Given the description of an element on the screen output the (x, y) to click on. 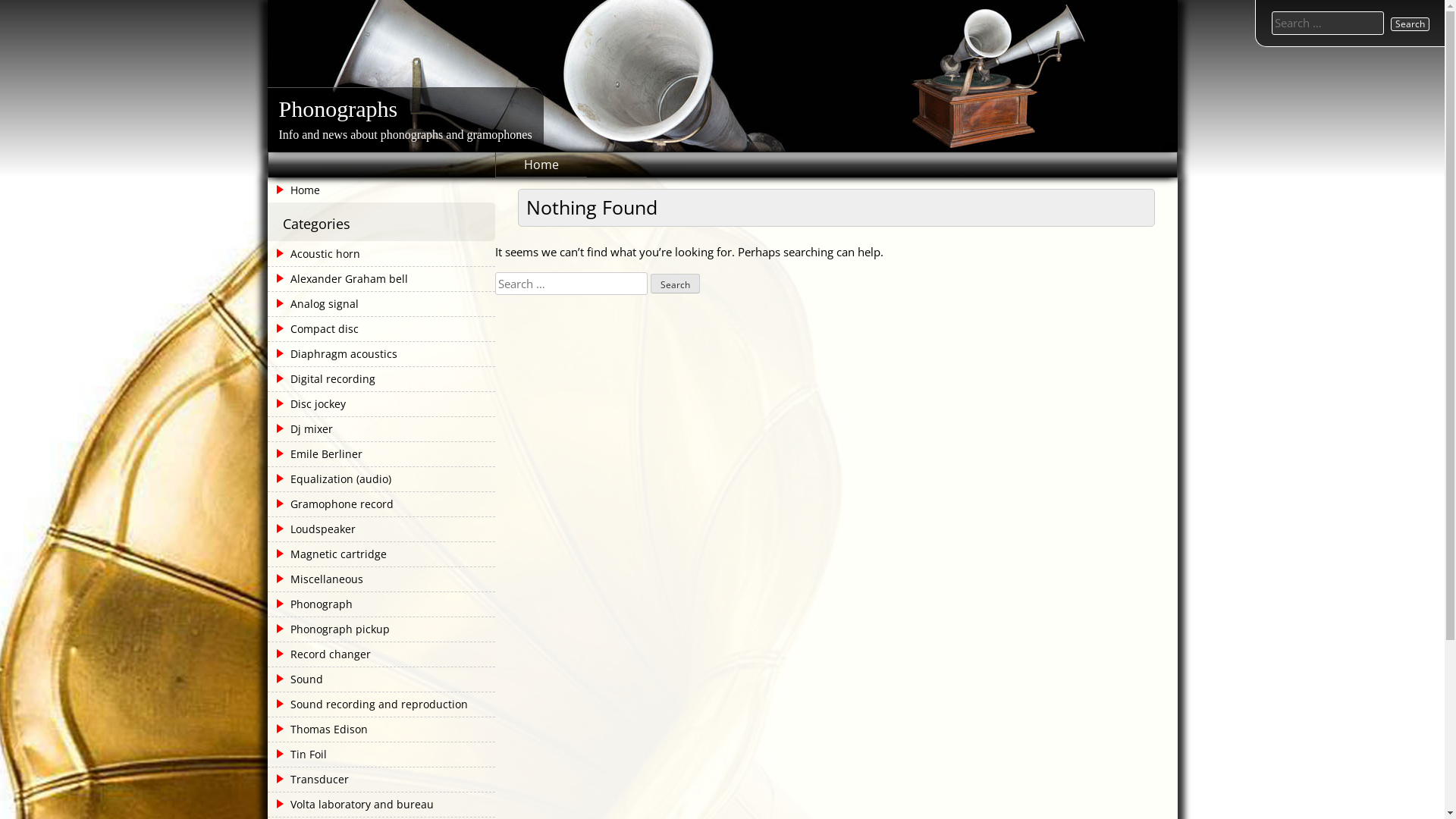
Home Element type: text (380, 190)
Emile Berliner Element type: text (315, 454)
Phonographs Element type: text (338, 108)
Miscellaneous Element type: text (316, 579)
Search Element type: text (1409, 24)
Volta laboratory and bureau Element type: text (351, 804)
Tin Foil Element type: text (297, 754)
Digital recording Element type: text (322, 379)
Phonograph Element type: text (310, 604)
Skip to content Element type: text (0, 0)
Loudspeaker Element type: text (312, 529)
Compact disc Element type: text (313, 328)
Record changer Element type: text (319, 654)
Magnetic cartridge Element type: text (327, 554)
Analog signal Element type: text (313, 303)
Thomas Edison Element type: text (318, 729)
Home Element type: text (540, 164)
Search Element type: text (674, 283)
Sound recording and reproduction Element type: text (368, 704)
Diaphragm acoustics Element type: text (333, 354)
Transducer Element type: text (308, 779)
Disc jockey Element type: text (307, 404)
Gramophone record Element type: text (331, 504)
Sound Element type: text (296, 679)
Acoustic horn Element type: text (314, 253)
Phonograph pickup Element type: text (329, 629)
Equalization (audio) Element type: text (330, 479)
Dj mixer Element type: text (300, 429)
Alexander Graham bell Element type: text (338, 278)
